Given the description of an element on the screen output the (x, y) to click on. 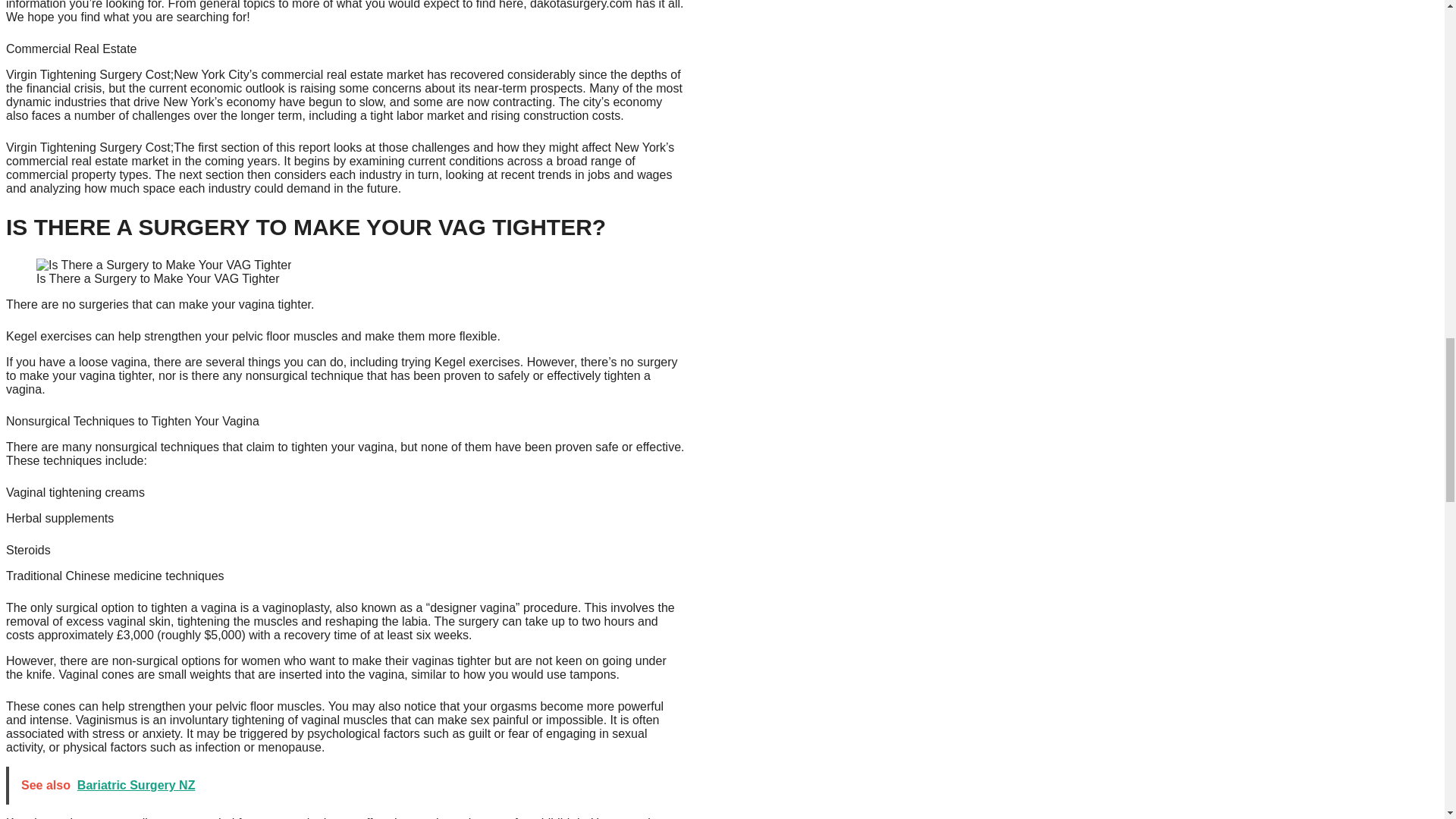
See also  Bariatric Surgery NZ (346, 785)
